Given the description of an element on the screen output the (x, y) to click on. 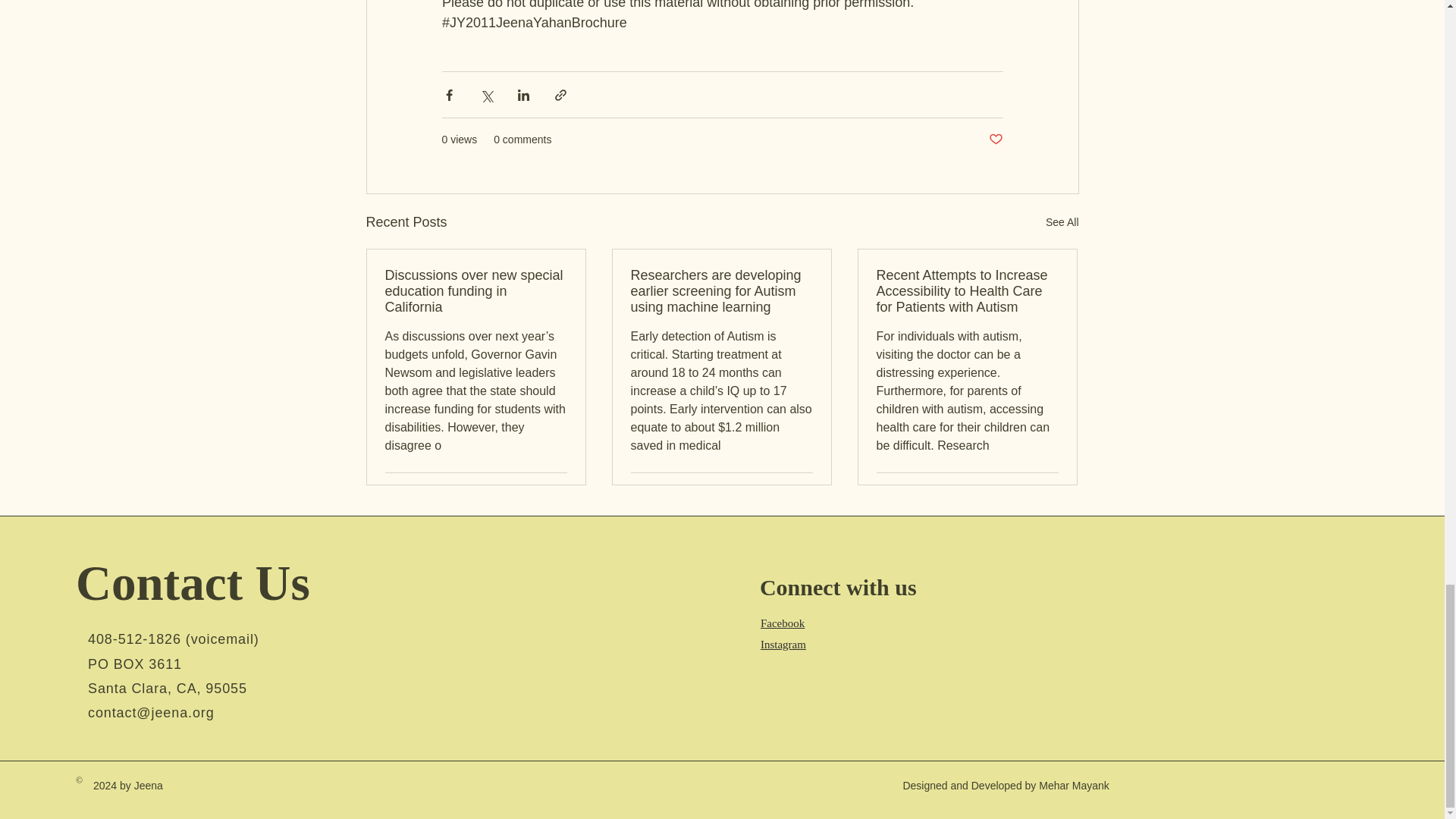
Facebook (782, 622)
Post not marked as liked (804, 491)
Discussions over new special education funding in California (476, 291)
See All (1061, 222)
Post not marked as liked (995, 139)
Post not marked as liked (558, 491)
Instagram (783, 644)
Post not marked as liked (1050, 491)
